Given the description of an element on the screen output the (x, y) to click on. 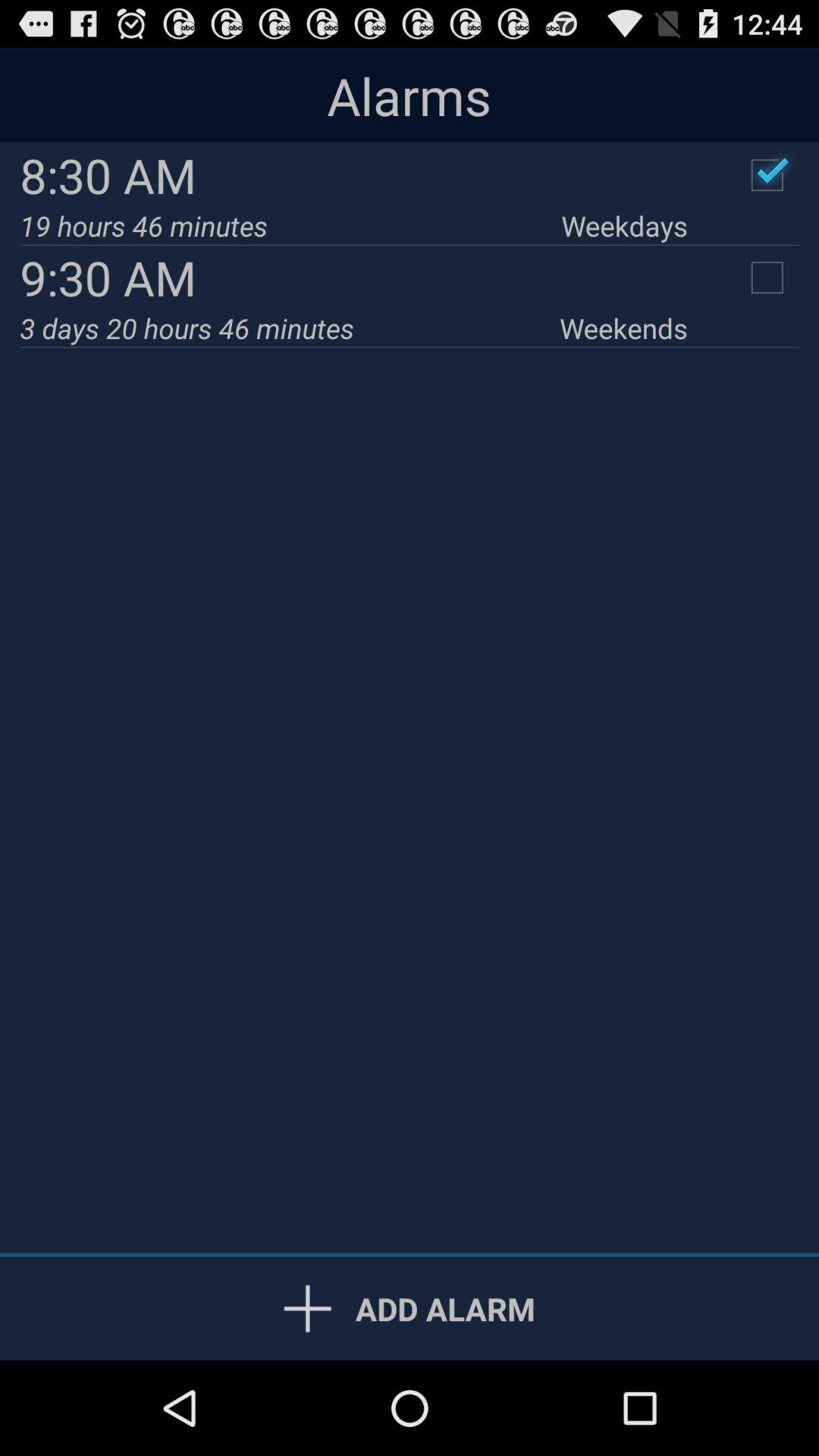
select the item next to the 3 days 20 app (623, 327)
